Given the description of an element on the screen output the (x, y) to click on. 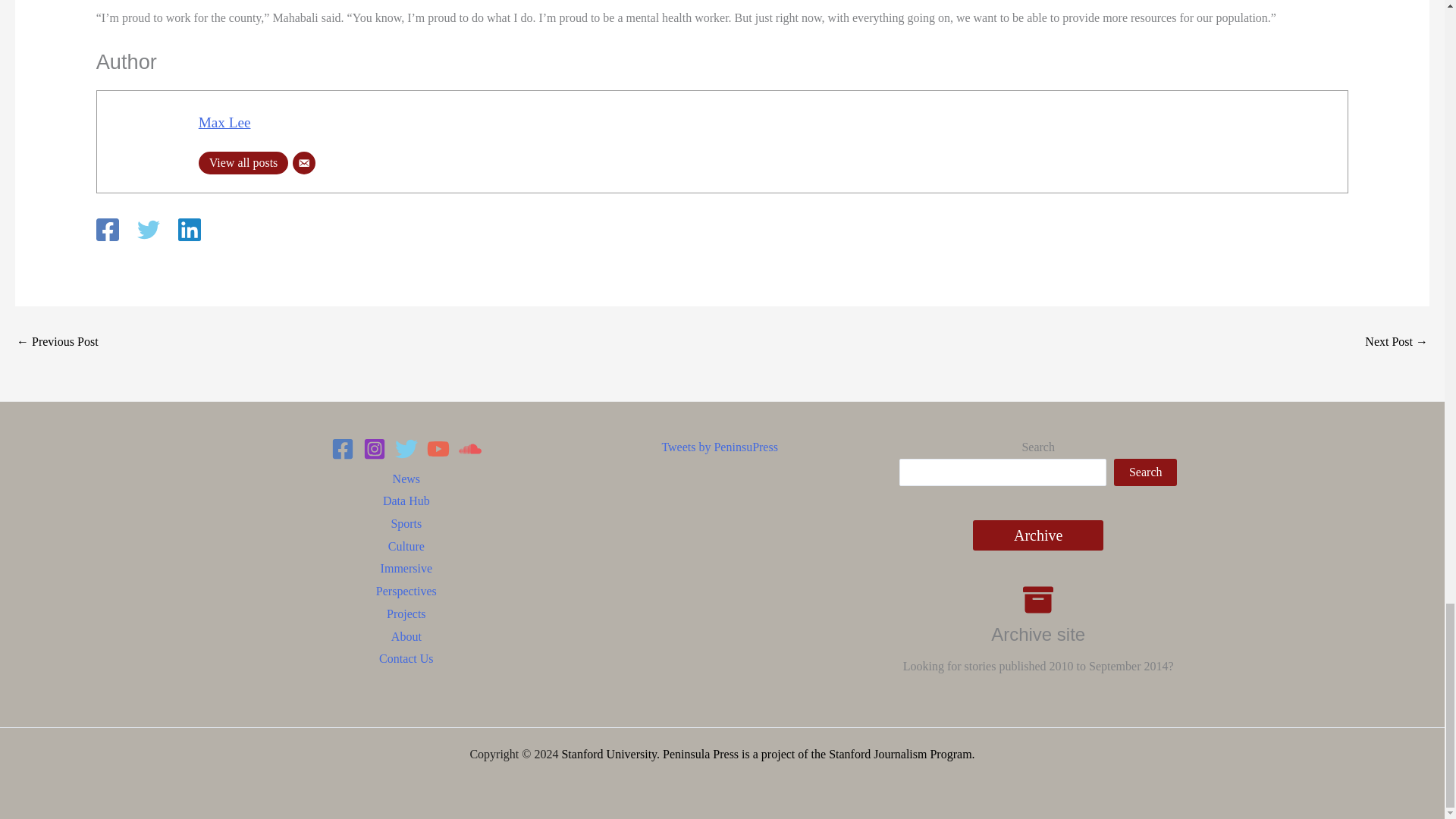
View all posts (243, 162)
Max Lee (224, 122)
